Given the description of an element on the screen output the (x, y) to click on. 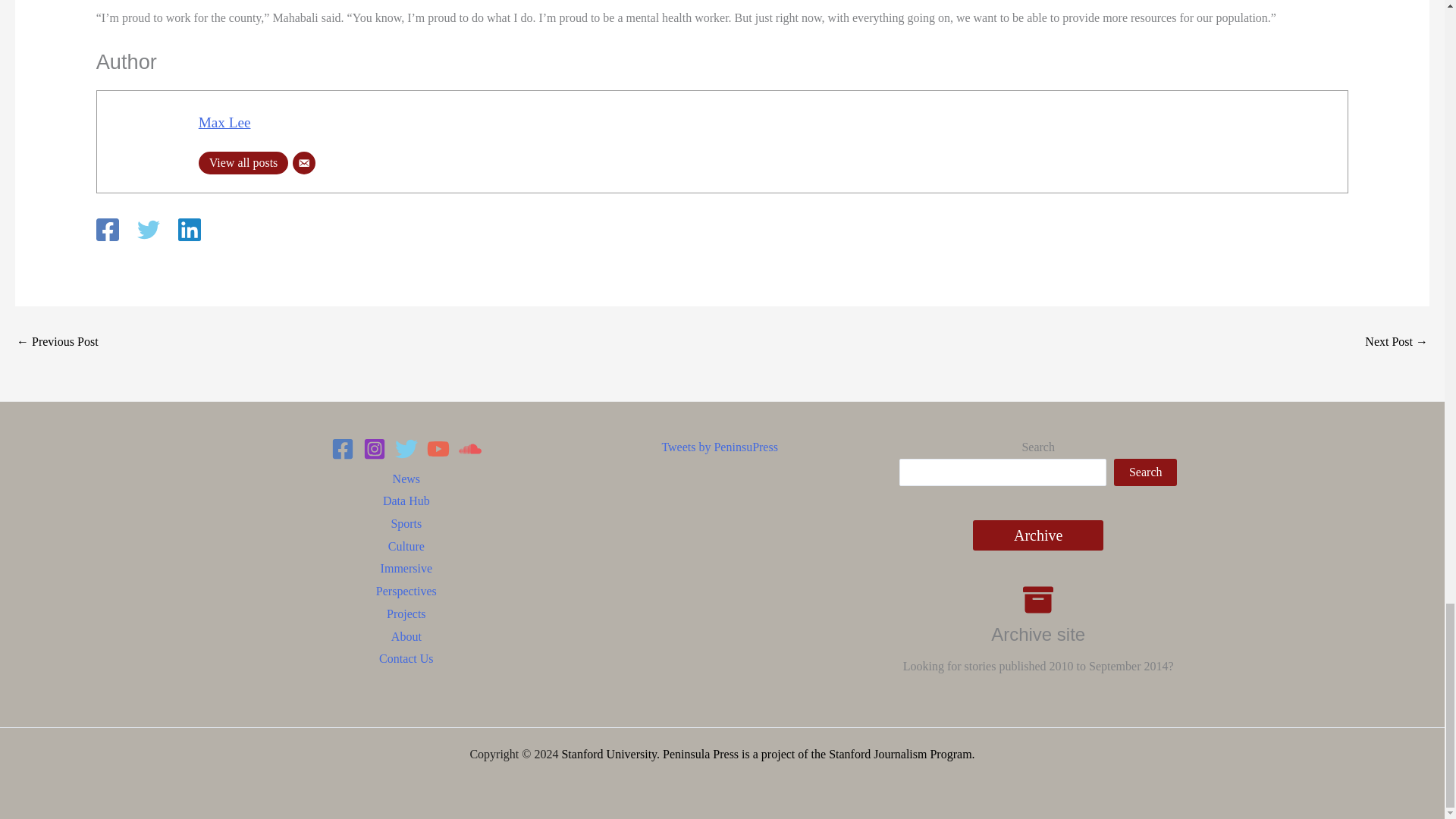
View all posts (243, 162)
Max Lee (224, 122)
